Given the description of an element on the screen output the (x, y) to click on. 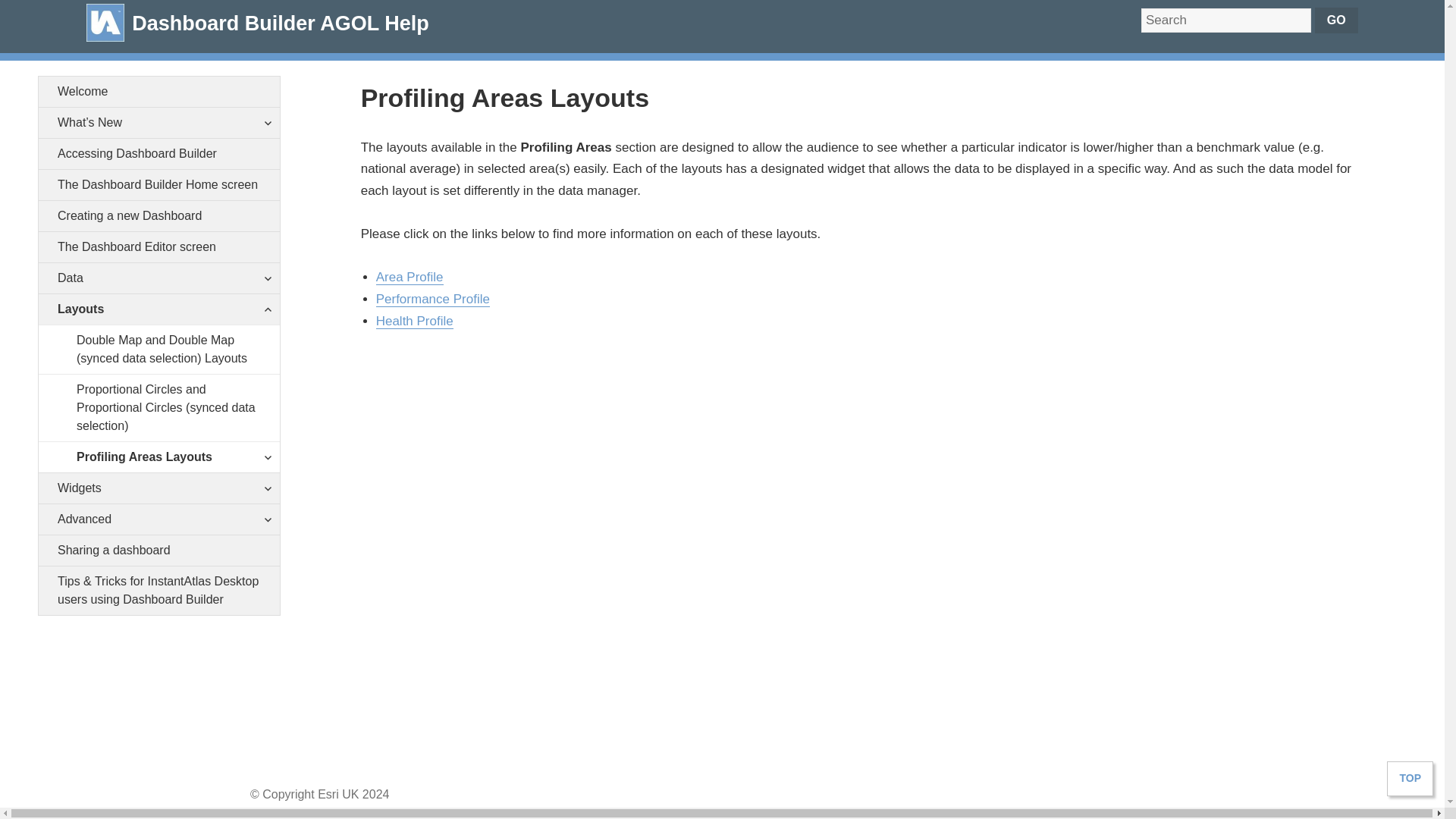
Go (1336, 20)
expand child menu (267, 278)
Data (159, 277)
Widgets (159, 488)
expand child menu (267, 487)
The Dashboard Editor screen (159, 246)
expand child menu (267, 457)
expand child menu (267, 309)
Go (1336, 20)
Creating a new Dashboard (159, 215)
expand child menu (267, 518)
Dashboard Builder AGOL Help (276, 25)
Profiling Areas Layouts (168, 457)
The Dashboard Builder Home screen (159, 184)
Advanced (159, 519)
